Given the description of an element on the screen output the (x, y) to click on. 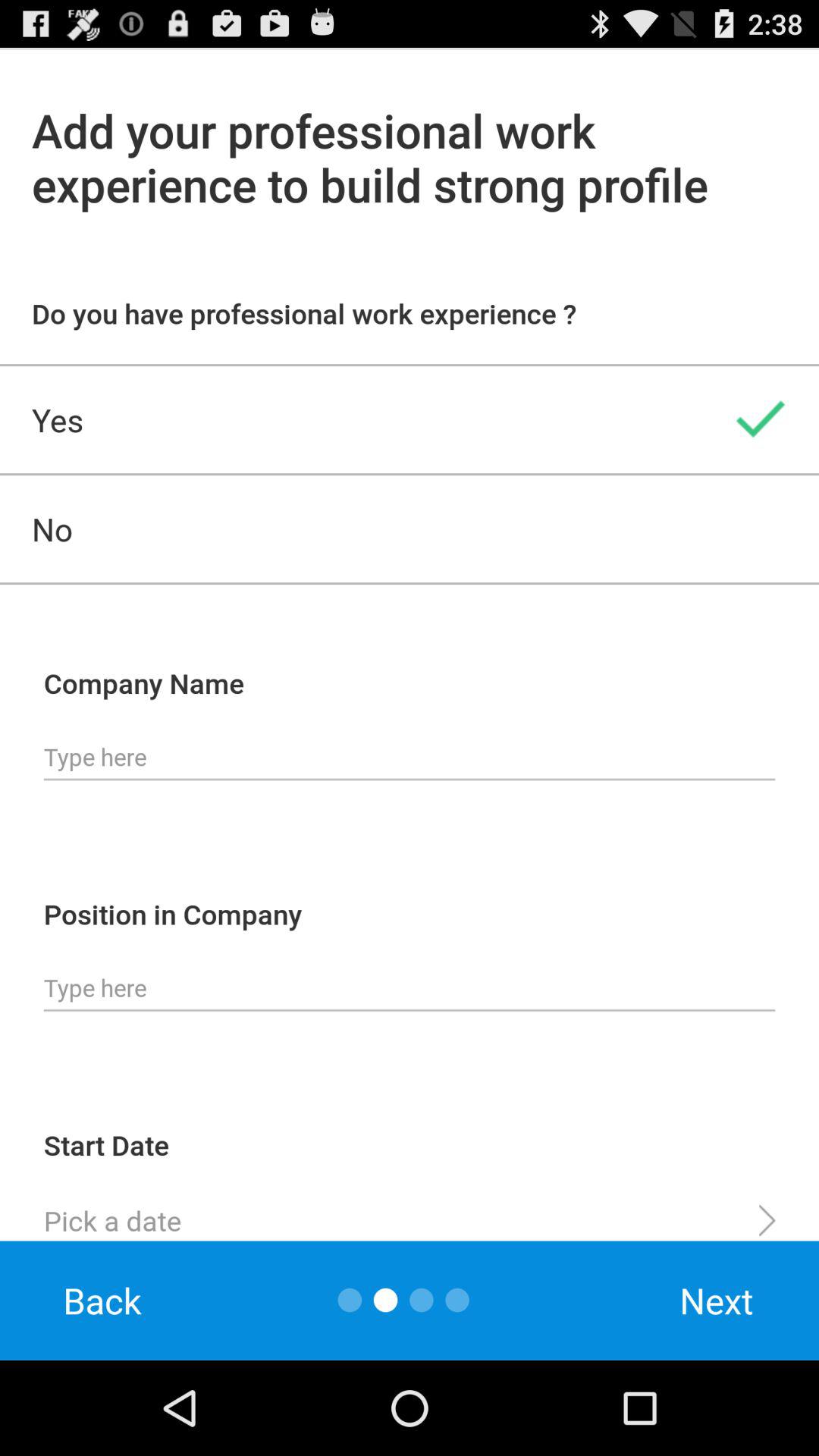
type postition in company (409, 988)
